Given the description of an element on the screen output the (x, y) to click on. 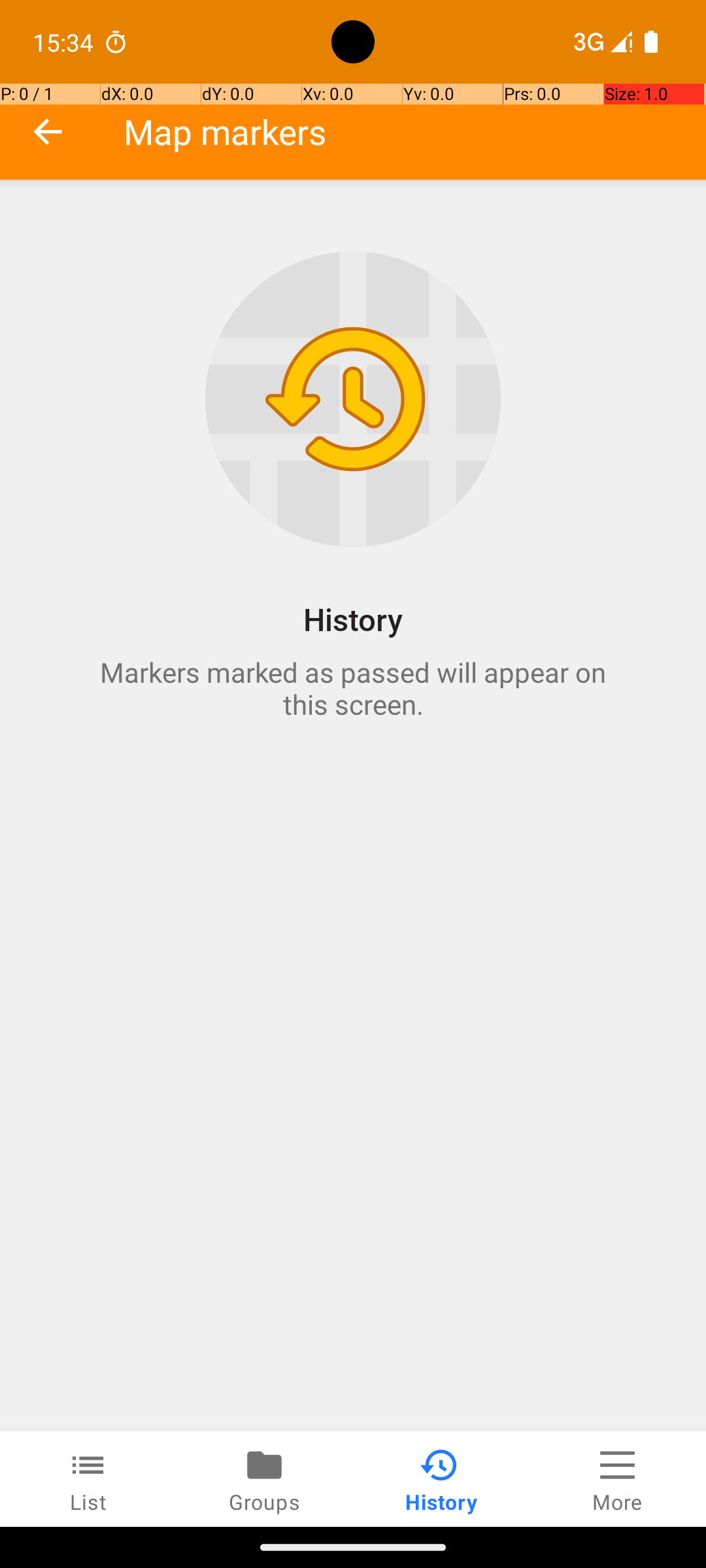
List Element type: android.widget.FrameLayout (88, 1478)
Groups Element type: android.widget.FrameLayout (264, 1478)
Markers marked as passed will appear on this screen. Element type: android.widget.TextView (352, 687)
